Given the description of an element on the screen output the (x, y) to click on. 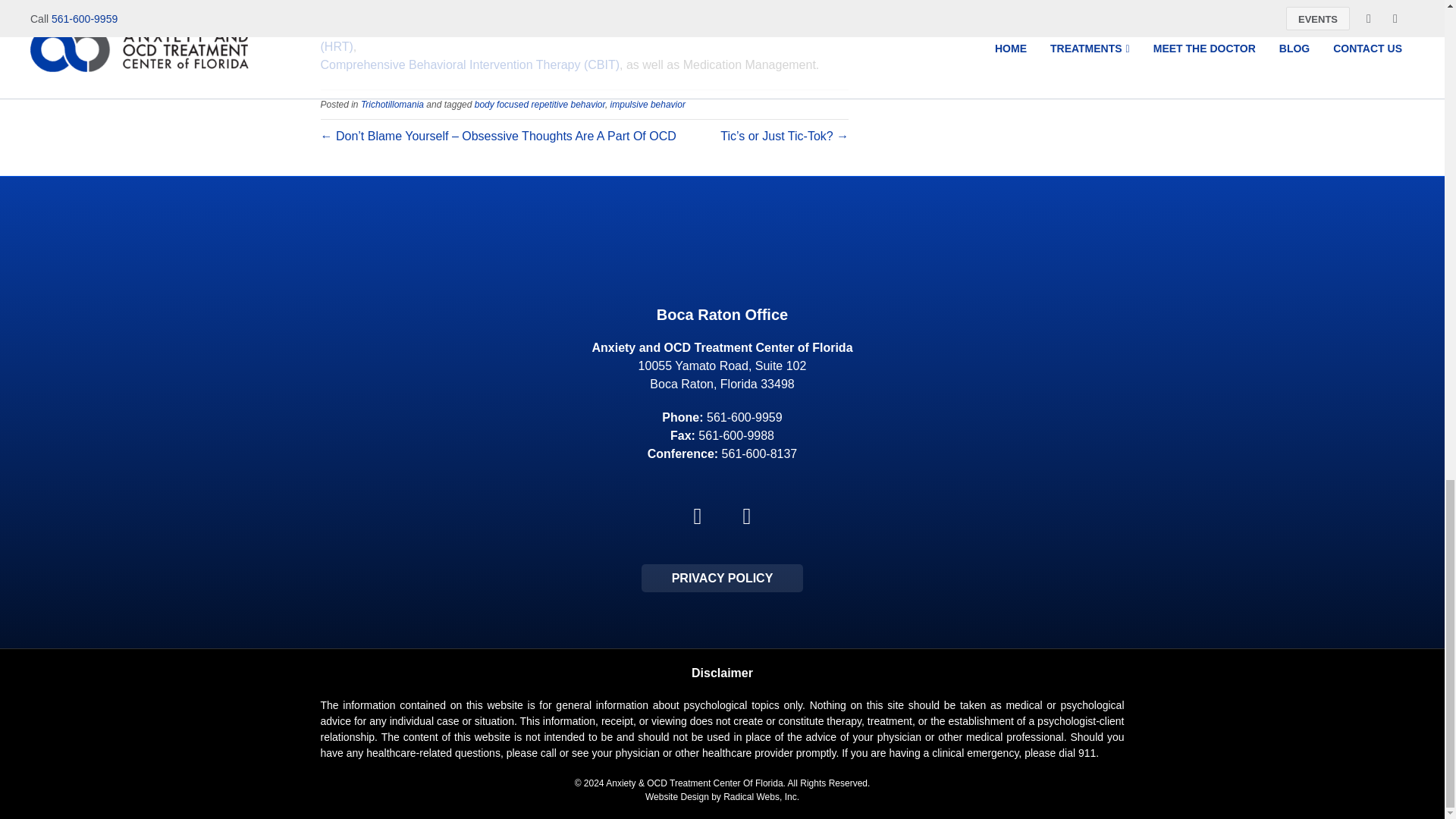
impulsive behavior (647, 104)
Trichotillomania (392, 104)
561-600-9959 (744, 417)
body focused repetitive behavior (539, 104)
